Given the description of an element on the screen output the (x, y) to click on. 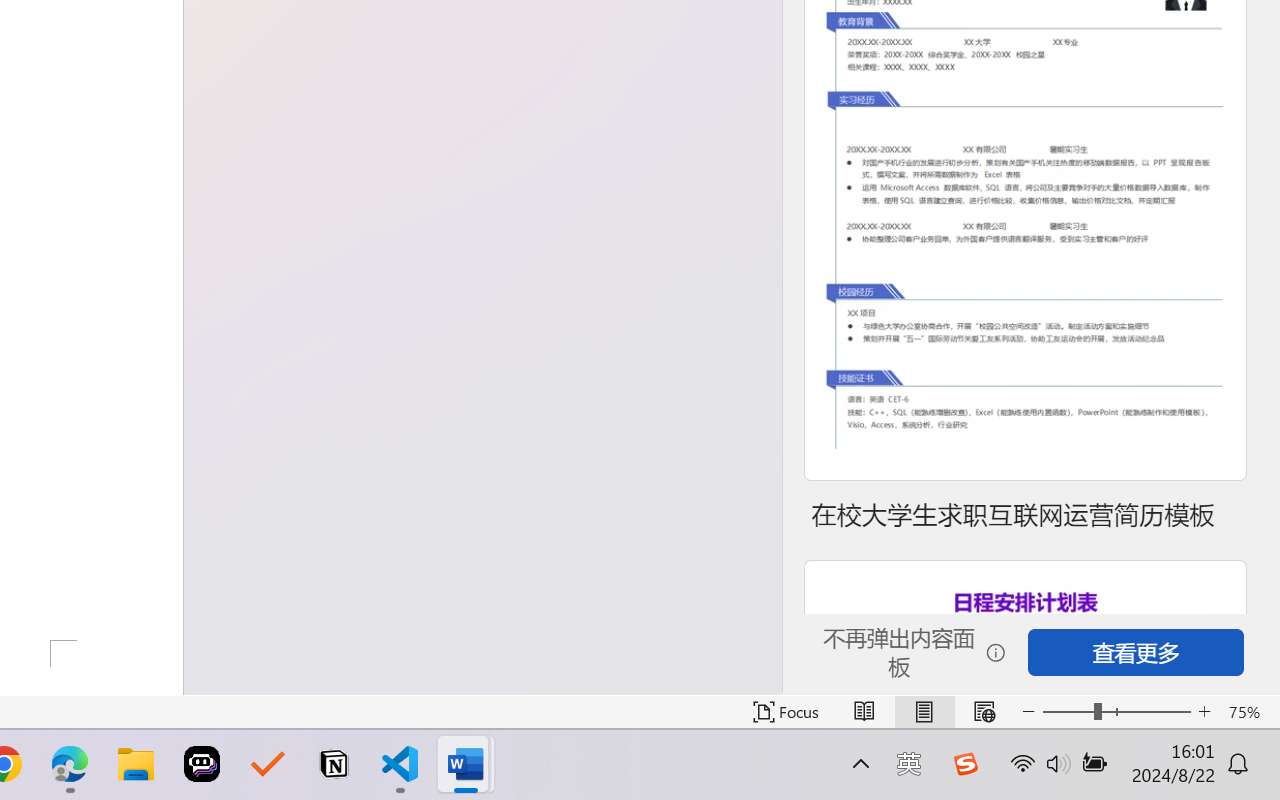
Web Layout (984, 712)
Read Mode (864, 712)
Zoom Out (1067, 712)
Zoom In (1204, 712)
Focus  (786, 712)
Notion (333, 764)
Poe (201, 764)
Print Layout (924, 712)
